Given the description of an element on the screen output the (x, y) to click on. 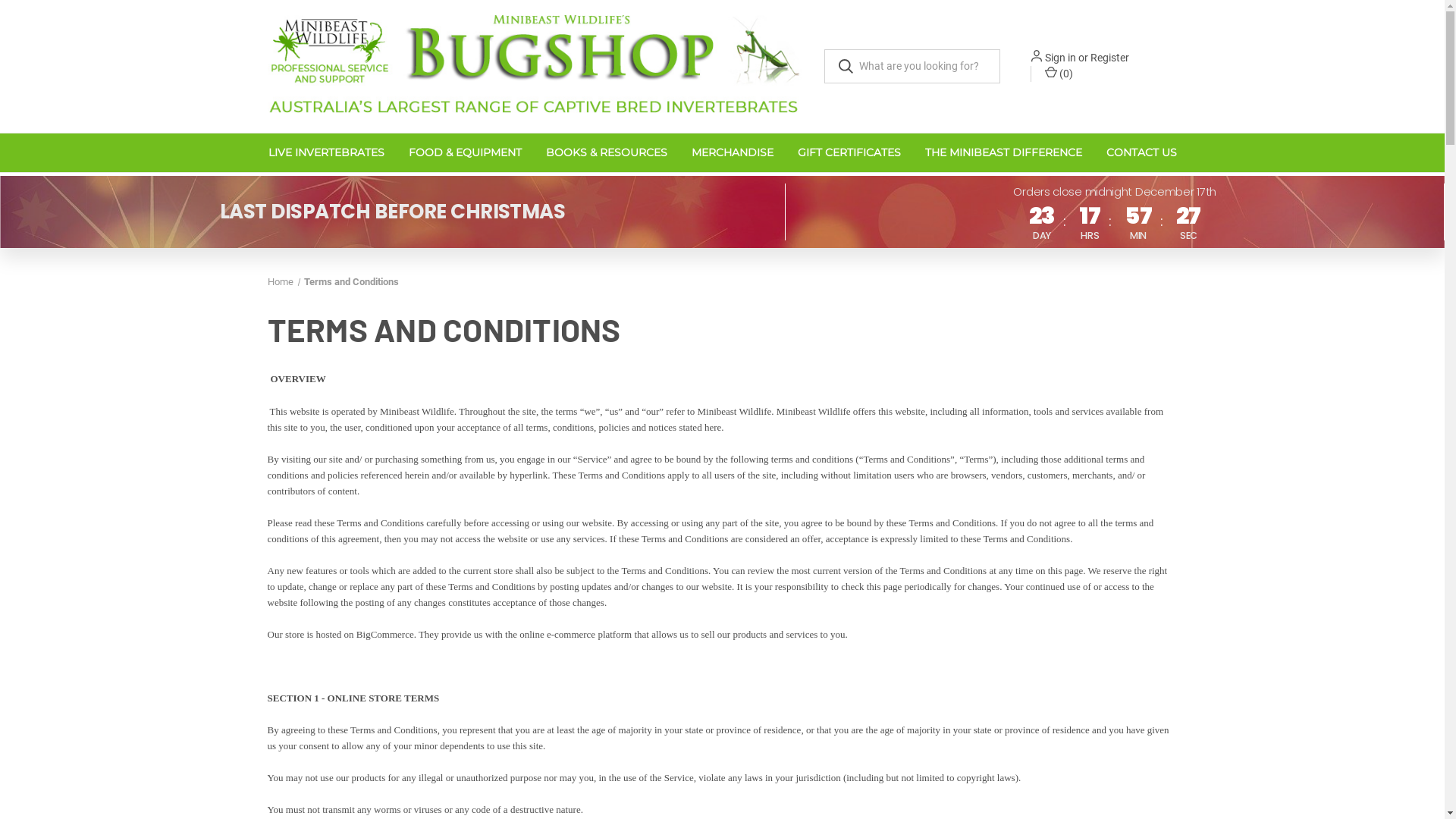
Register Element type: text (1109, 57)
CONTACT US Element type: text (1140, 152)
(0) Element type: text (1057, 73)
Minibeast Wildlife Bug Shop Element type: hover (533, 66)
BOOKS & RESOURCES Element type: text (606, 152)
LIVE INVERTEBRATES Element type: text (326, 152)
FOOD & EQUIPMENT Element type: text (464, 152)
GIFT CERTIFICATES Element type: text (849, 152)
Home Element type: text (279, 281)
MERCHANDISE Element type: text (732, 152)
Sign in Element type: text (1060, 57)
Terms and Conditions Element type: text (351, 281)
THE MINIBEAST DIFFERENCE Element type: text (1003, 152)
